Given the description of an element on the screen output the (x, y) to click on. 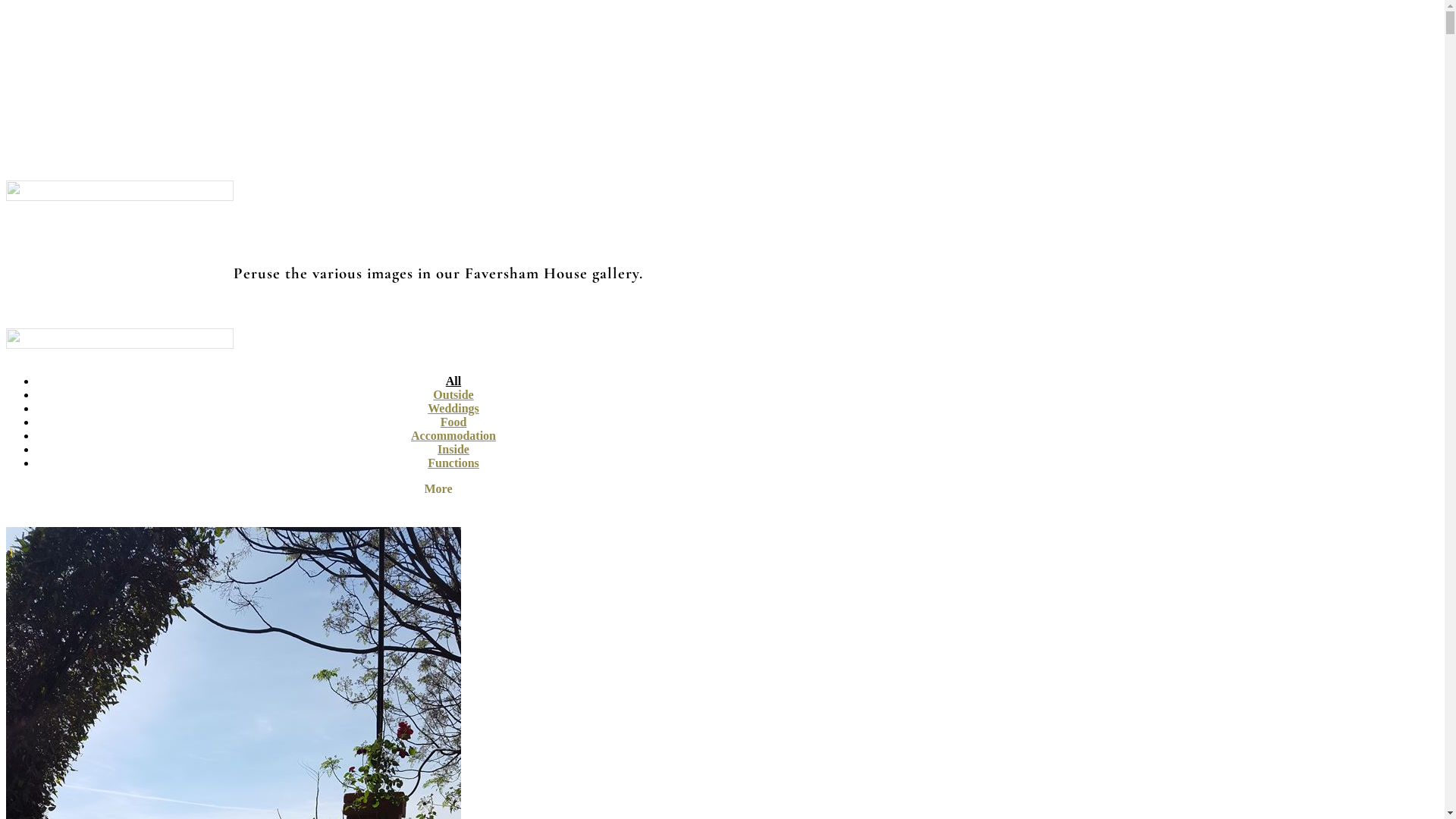
Accommodation Element type: text (453, 435)
Food Element type: text (453, 421)
Weddings Element type: text (453, 407)
All Element type: text (453, 380)
Functions Element type: text (453, 462)
Inside Element type: text (453, 448)
Outside Element type: text (453, 394)
